Given the description of an element on the screen output the (x, y) to click on. 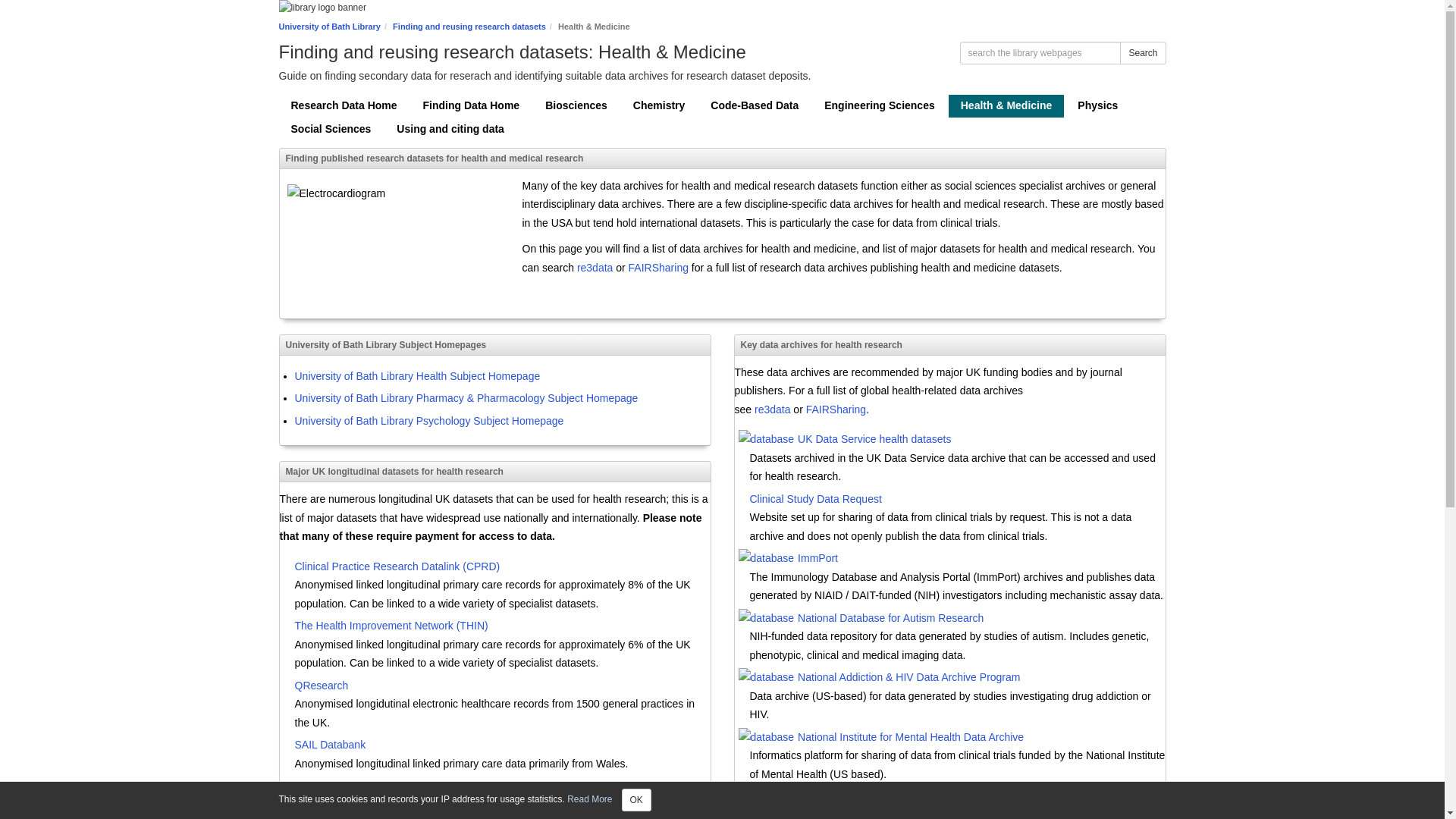
Finding Data Home (471, 106)
Search (1142, 52)
SAIL Databank (502, 745)
FAIRSharing (658, 267)
Biosciences (576, 106)
Code-Based Data (754, 106)
University of Bath Library (329, 26)
QResearch (502, 686)
re3data  (773, 409)
UK Data Service health datasets (1004, 440)
